Given the description of an element on the screen output the (x, y) to click on. 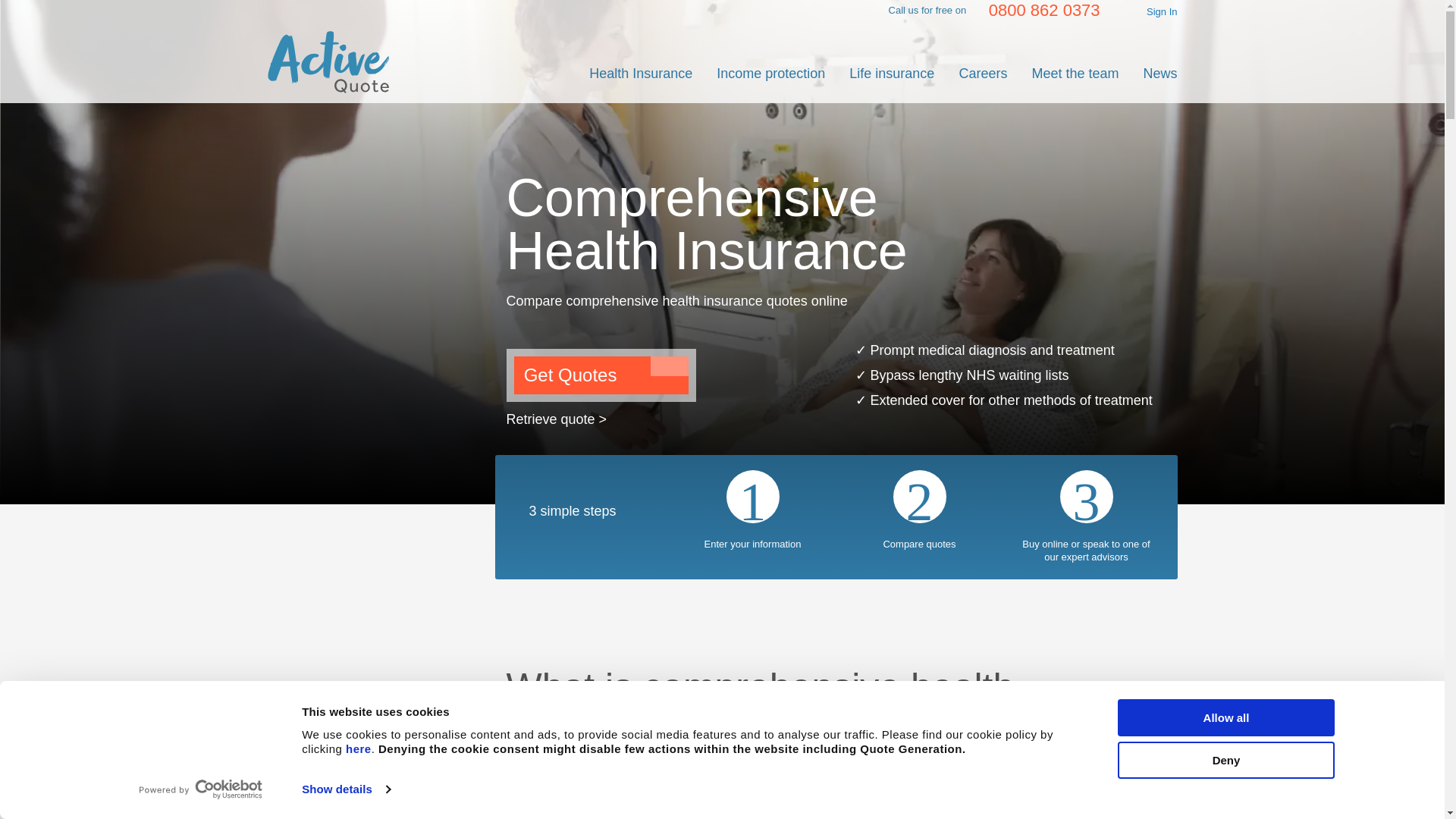
Show details (345, 789)
here (358, 748)
